Given the description of an element on the screen output the (x, y) to click on. 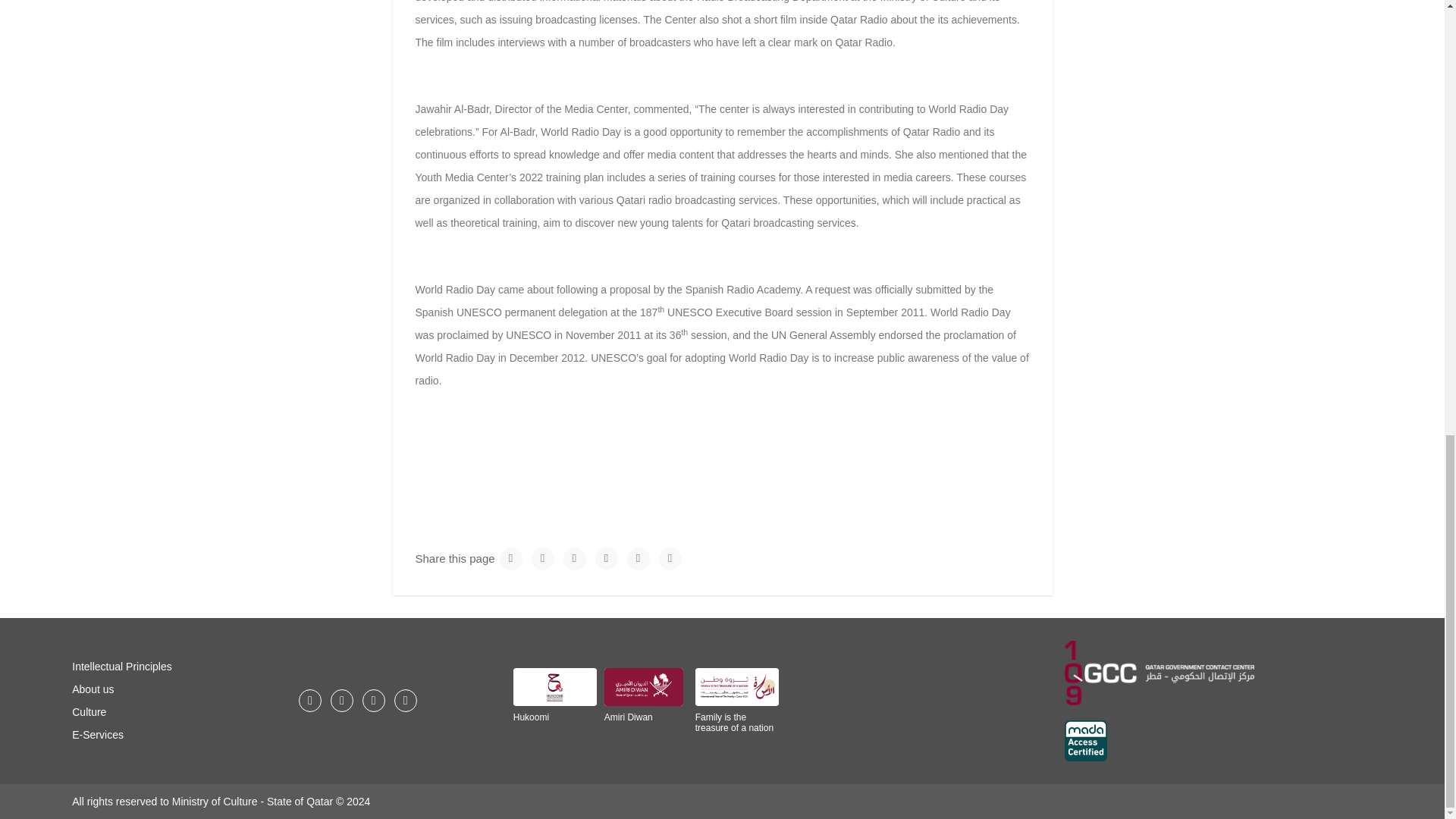
Share Linked In (606, 558)
Share Google Plus (574, 558)
Share Twitter (510, 558)
Share Facebook (542, 558)
